Given the description of an element on the screen output the (x, y) to click on. 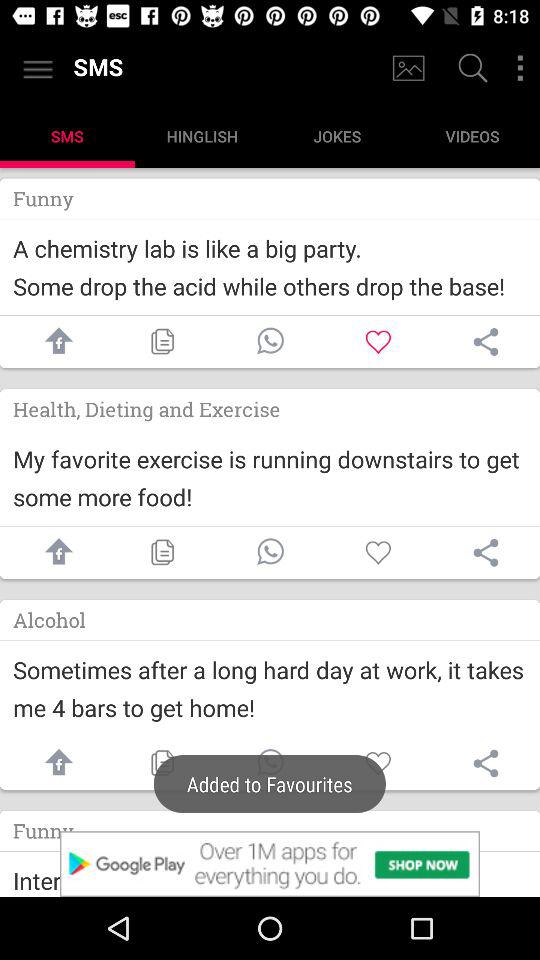
go to gallery (408, 67)
